Given the description of an element on the screen output the (x, y) to click on. 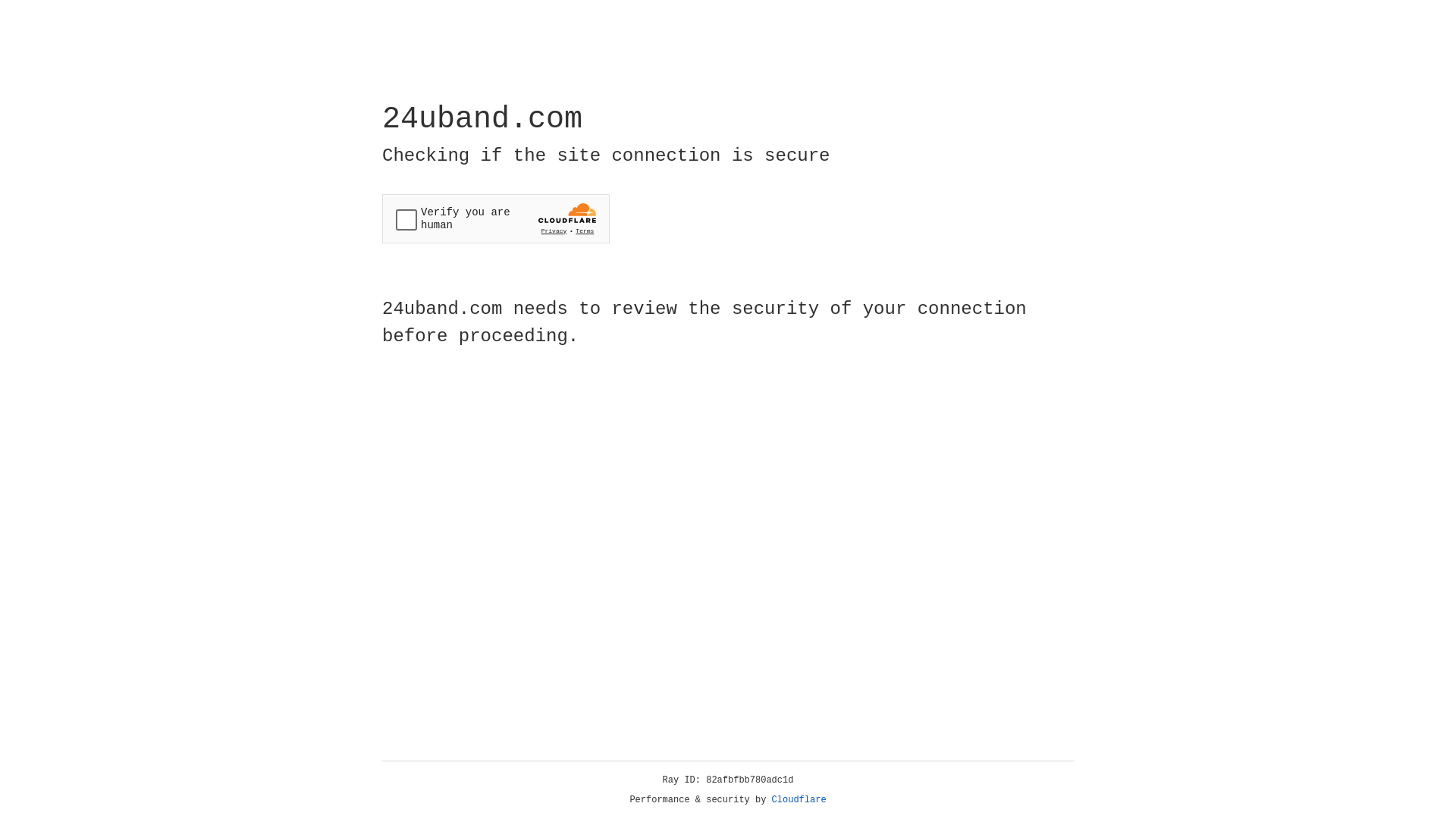
Widget containing a Cloudflare security challenge Element type: hover (495, 218)
Cloudflare Element type: text (798, 799)
